Given the description of an element on the screen output the (x, y) to click on. 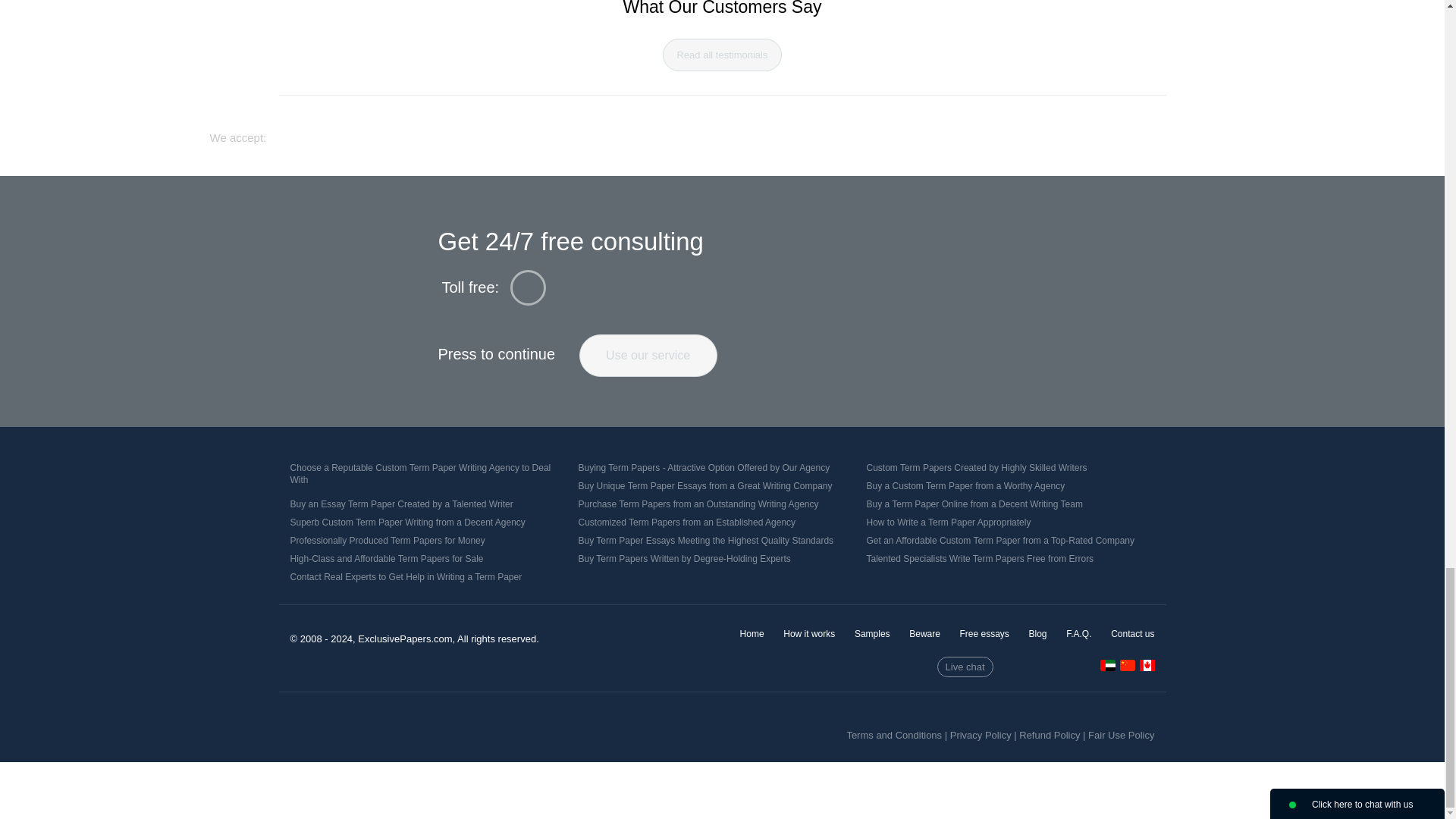
Essay Writing in United Arab Emirates (1107, 665)
Essay Writing in China (1127, 665)
Credit and debit cards by MasterCard (695, 131)
Essay Writing in USA (1146, 665)
Credit cards by American Express (783, 131)
Essay Writing in USA (1146, 667)
Credit and debit cards by Visa (607, 131)
Apple pay (842, 130)
Essay Writing in United Arab Emirates (1107, 667)
Read all testimonials (722, 54)
Essay Writing in China (1127, 667)
